Given the description of an element on the screen output the (x, y) to click on. 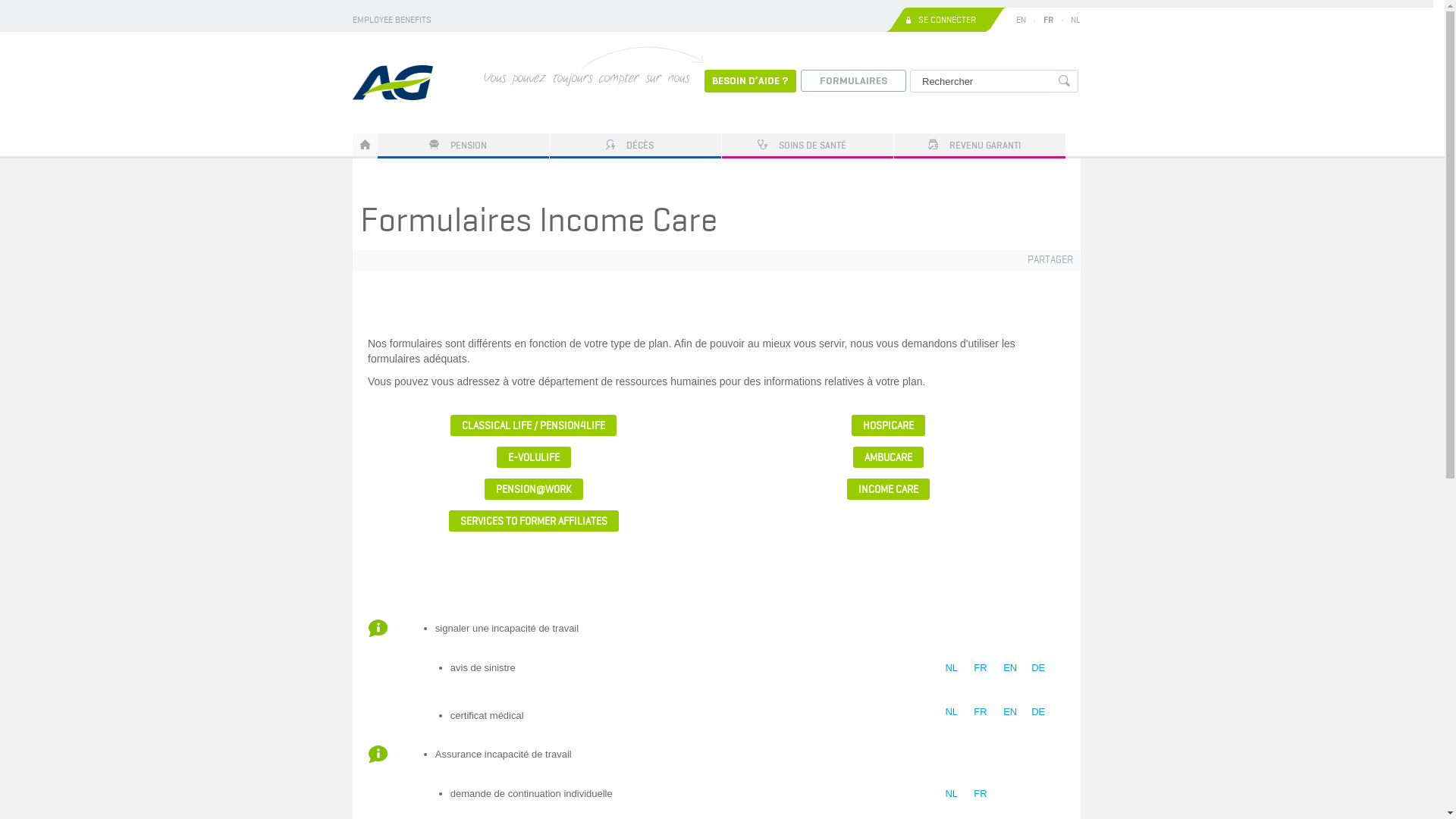
EN Element type: text (1009, 666)
SERVICES TO FORMER AFFILIATES Element type: text (533, 520)
POPUP Element type: hover (377, 753)
NL Element type: text (950, 666)
NL Element type: text (950, 793)
NL Element type: text (950, 711)
DE Element type: text (1037, 666)
FR Element type: text (1048, 20)
E-VOLULIFE Element type: text (533, 456)
DE Element type: text (1037, 711)
EN Element type: text (1009, 711)
FR Element type: text (979, 711)
FORMULAIRES Element type: text (853, 81)
NL Element type: text (1075, 19)
CLASSICAL LIFE / PENSION4LIFE Element type: text (533, 425)
PENSION Element type: text (463, 144)
REVENU GARANTI Element type: text (979, 144)
info-bubble.png Element type: hover (377, 753)
Rechercher Element type: hover (1064, 81)
EMPLOYEE BENEFITS Element type: text (391, 19)
INCOME CARE Element type: text (888, 488)
FR Element type: text (979, 793)
HOSPICARE Element type: text (888, 425)
FR Element type: text (979, 666)
AMBUCARE Element type: text (888, 456)
EN Element type: text (1021, 19)
info-bubble.png Element type: hover (377, 628)
POPUP Element type: hover (377, 627)
PENSION@WORK Element type: text (533, 488)
SE CONNECTER Element type: text (946, 19)
